Given the description of an element on the screen output the (x, y) to click on. 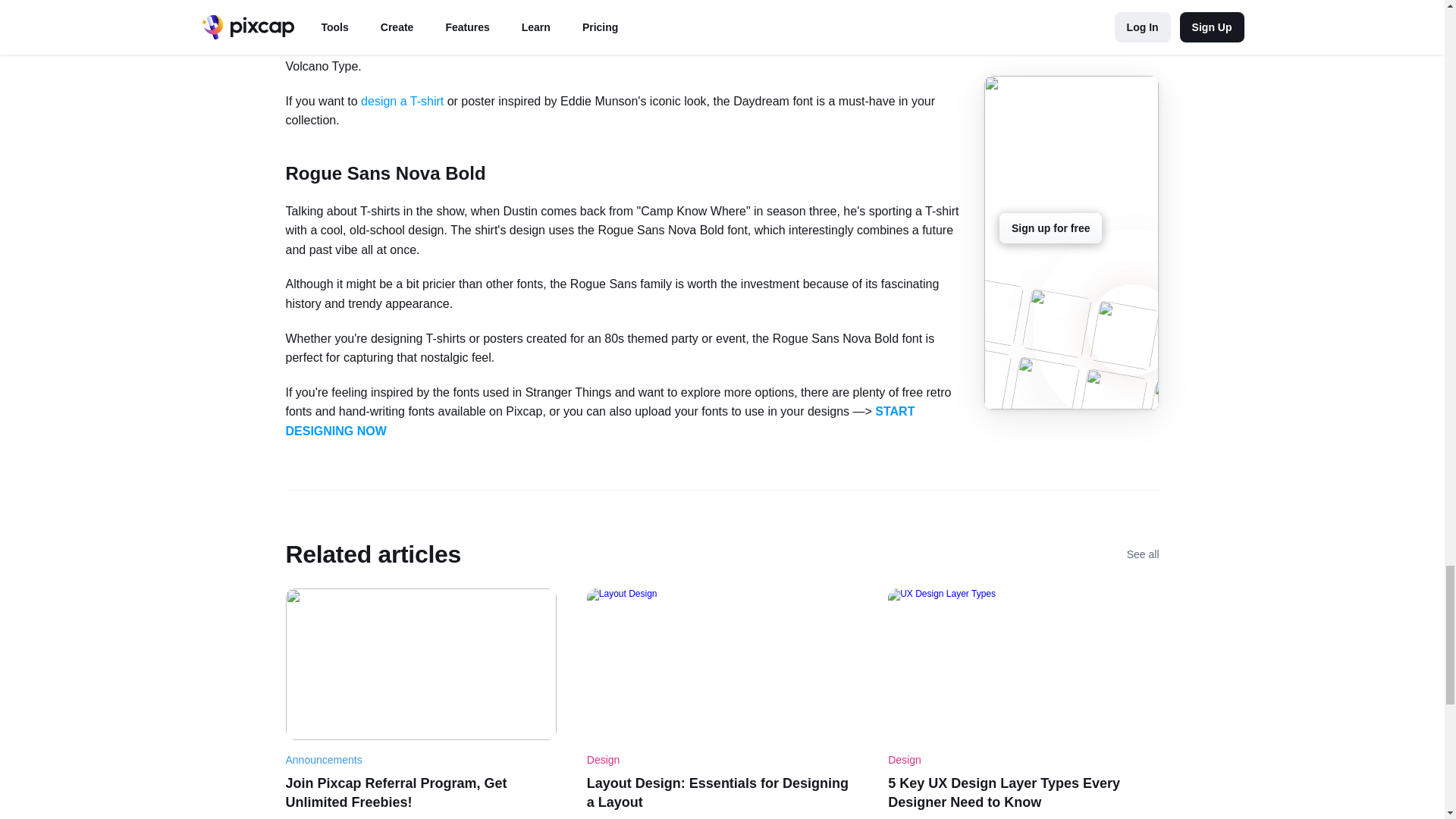
design a T-shirt (402, 101)
See all (1142, 553)
START DESIGNING NOW (601, 420)
